Given the description of an element on the screen output the (x, y) to click on. 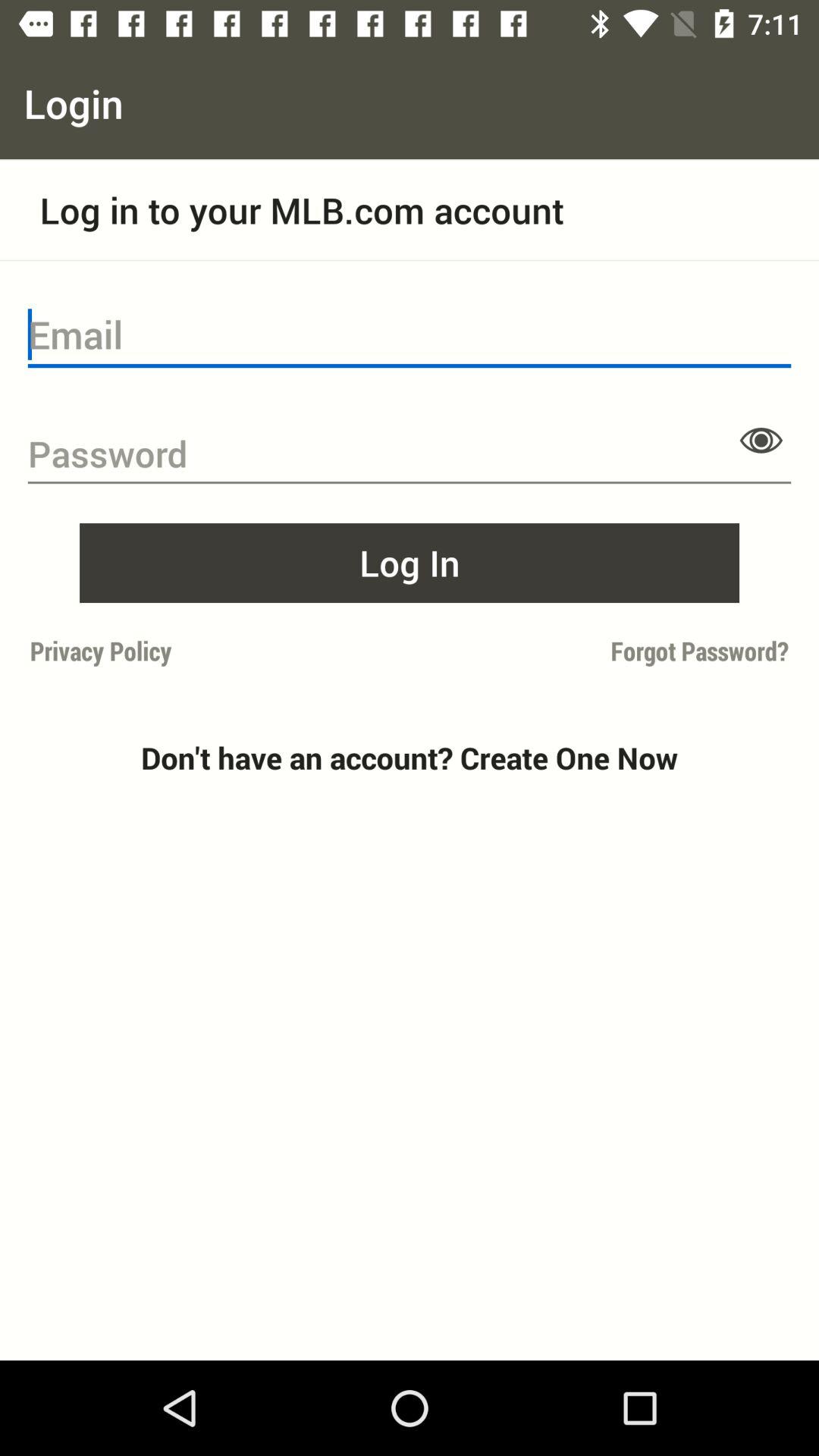
enter email address (409, 334)
